Given the description of an element on the screen output the (x, y) to click on. 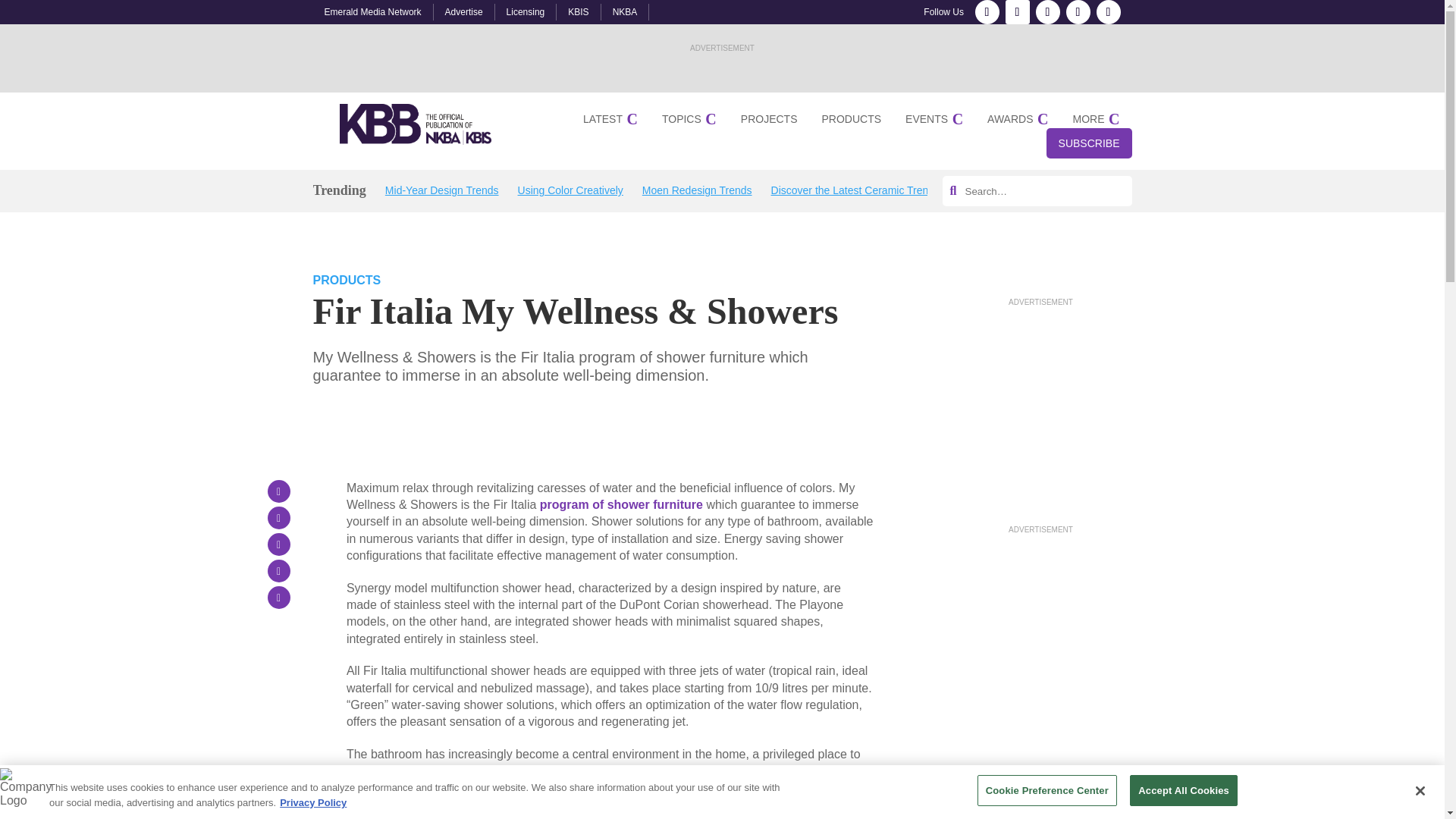
NKBA (624, 11)
TOPICS (689, 118)
Follow on LinkedIn (1047, 12)
Advertise (464, 11)
LATEST (610, 118)
Follow on Youtube (1108, 12)
Follow on X (1077, 12)
KBIS (577, 11)
Follow on Facebook (986, 12)
Follow on Instagram (1017, 12)
Licensing (525, 11)
Emerald Media Network (373, 11)
